Given the description of an element on the screen output the (x, y) to click on. 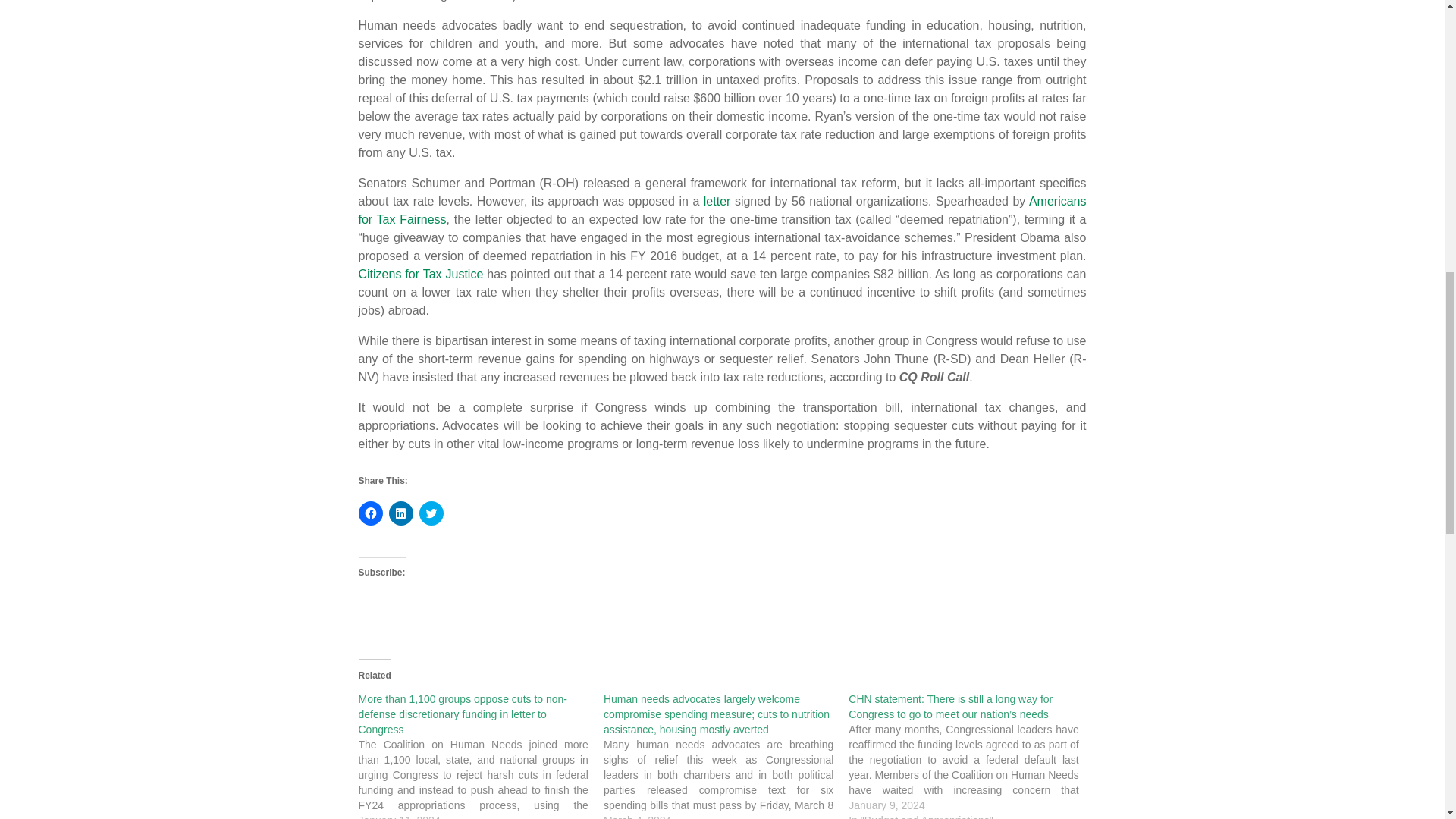
Click to share on Facebook (369, 513)
Citizens for Tax Justice (420, 273)
letter (716, 201)
Click to share on Twitter (430, 513)
Americans for Tax Fairness (722, 210)
Click to share on LinkedIn (400, 513)
